Given the description of an element on the screen output the (x, y) to click on. 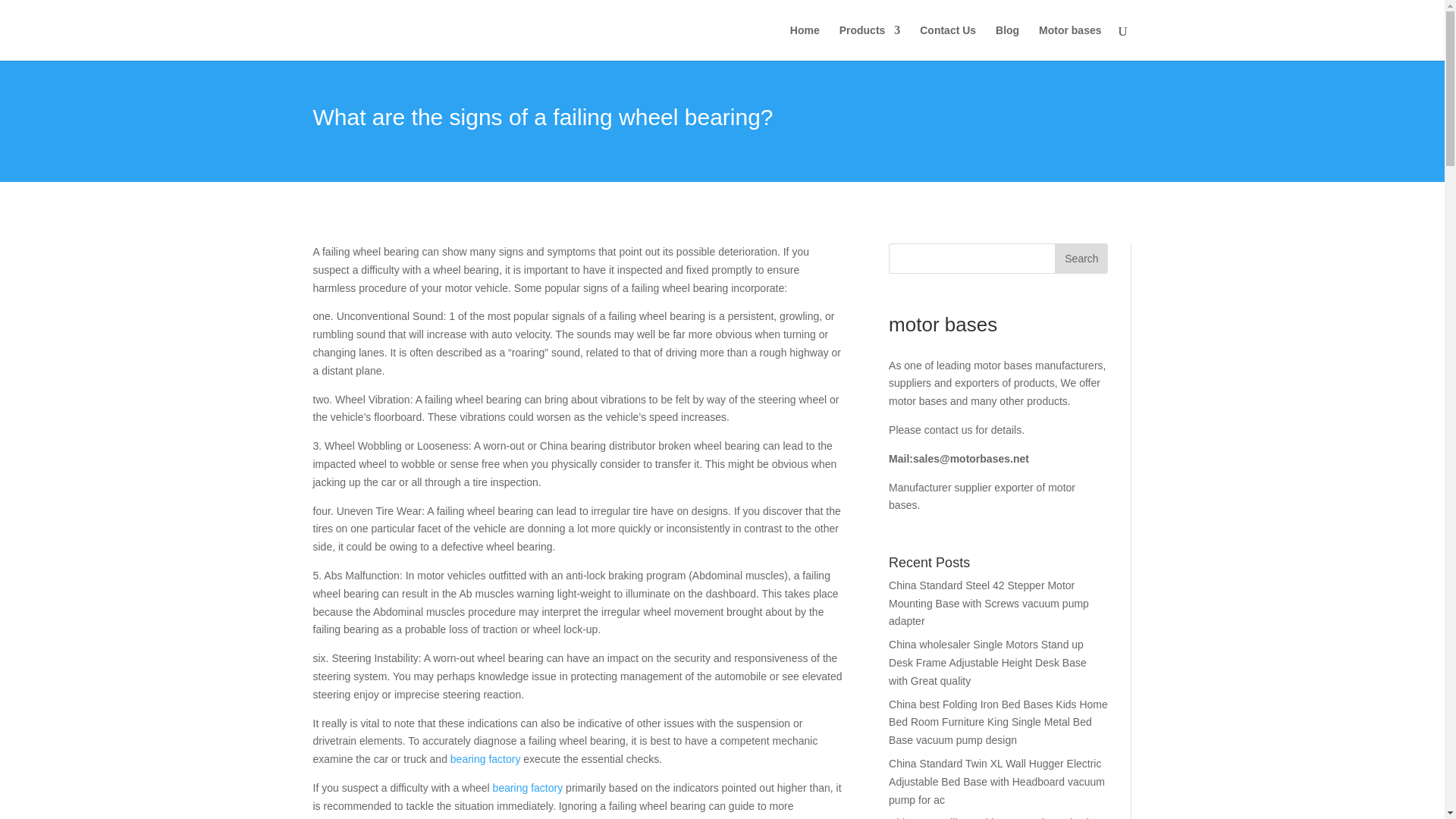
Contact Us (947, 42)
bearing factory (485, 758)
bearing factory (528, 787)
Motor bases (1069, 42)
Search (1081, 258)
Search (1081, 258)
compromised (548, 818)
Products (870, 42)
